Given the description of an element on the screen output the (x, y) to click on. 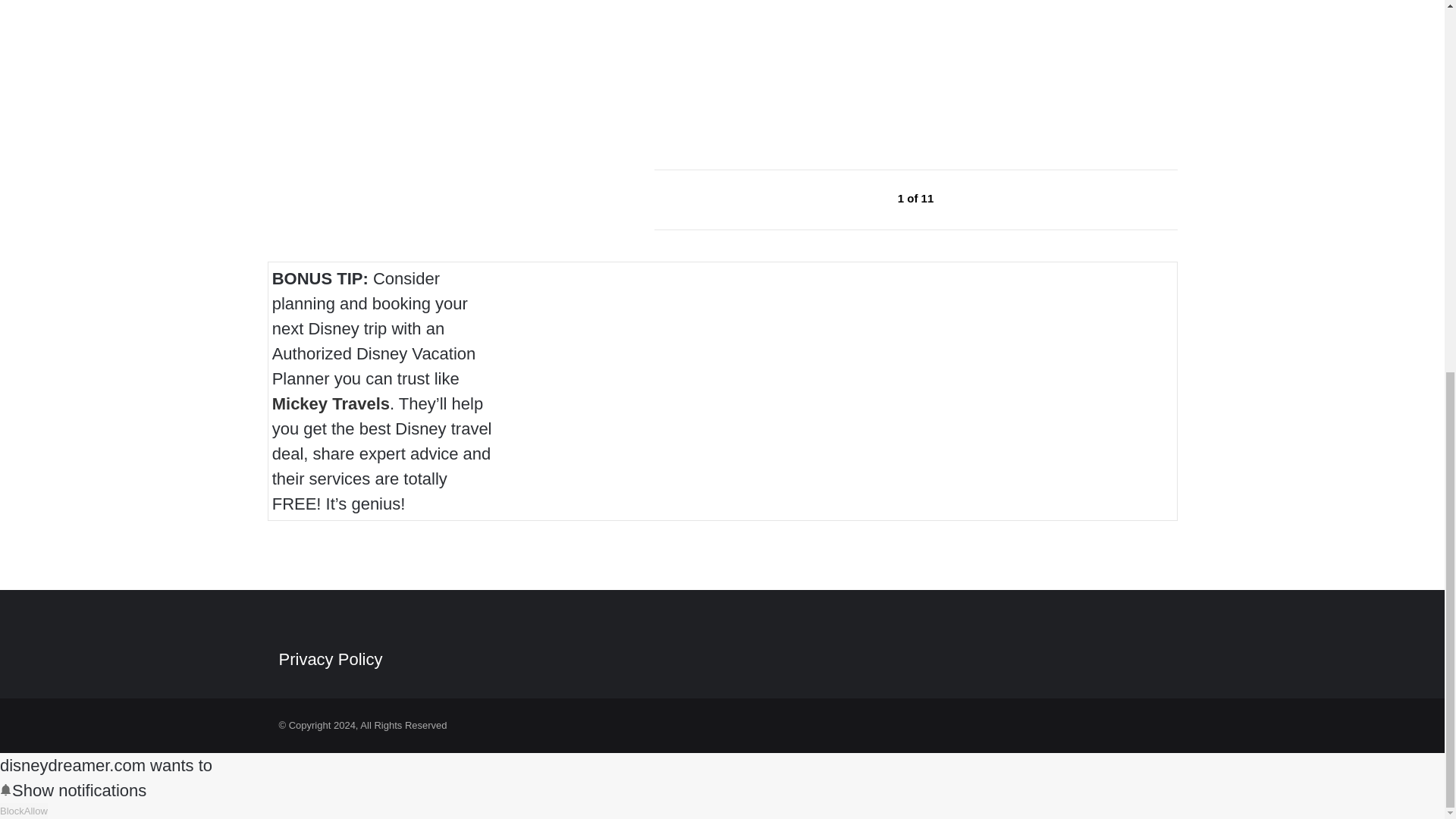
Mickey Travels (331, 403)
right (969, 197)
Privacy Policy (330, 659)
Left (863, 197)
